Given the description of an element on the screen output the (x, y) to click on. 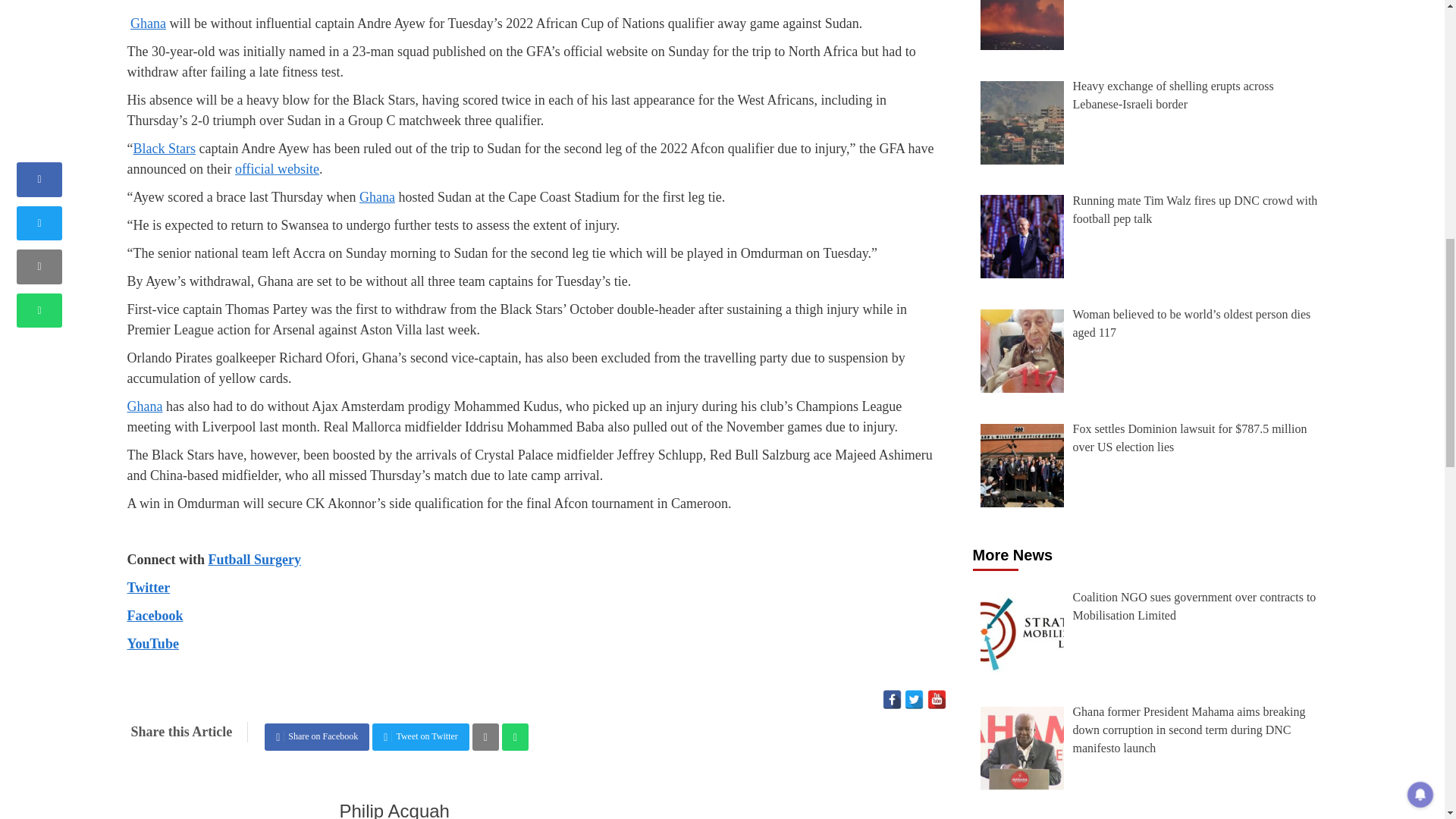
Share by Email (485, 737)
Futball Surgery (254, 559)
Facebook (891, 699)
Ghana (148, 23)
Black Stars (164, 148)
YouTube (153, 643)
Facebook (155, 615)
Philip Acquah (394, 809)
Share on Facebook (316, 737)
Twitter (149, 587)
